Given the description of an element on the screen output the (x, y) to click on. 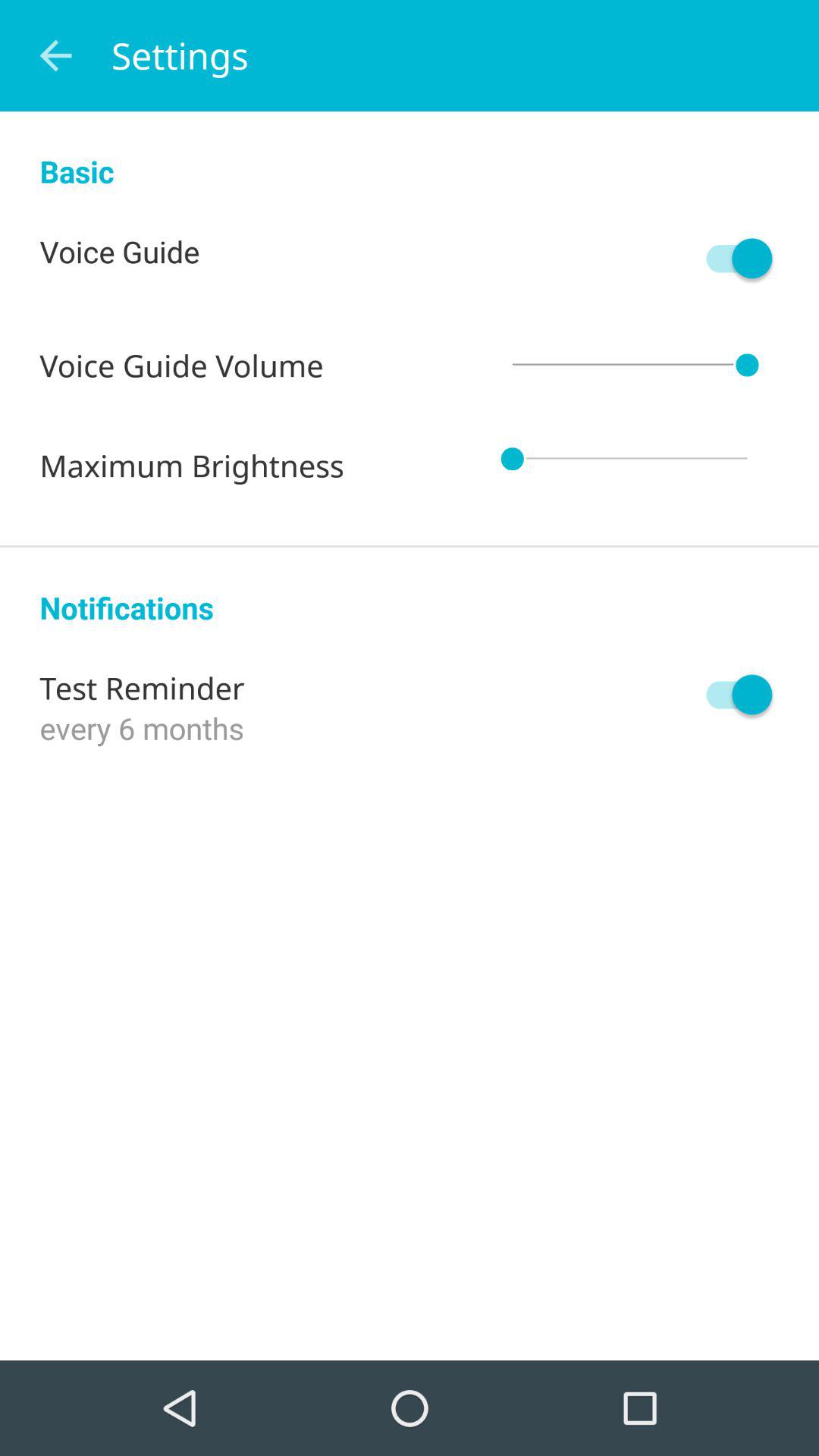
select icon next to the voice guide (731, 258)
